Given the description of an element on the screen output the (x, y) to click on. 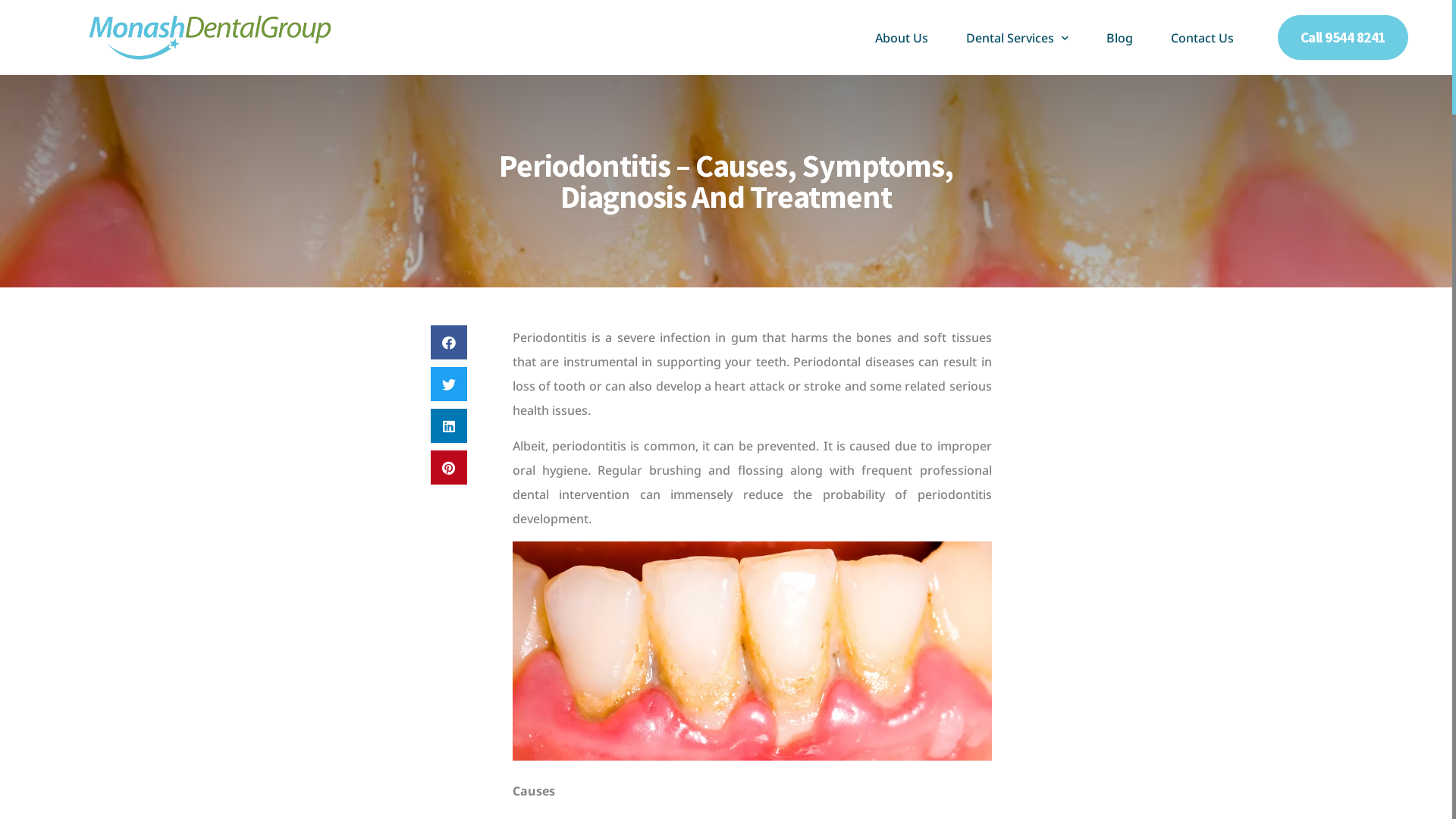
Blog Element type: text (1119, 37)
Dental Services Element type: text (1016, 37)
About Us Element type: text (901, 37)
Call 9544 8241 Element type: text (1342, 37)
Contact Us Element type: text (1201, 37)
